Given the description of an element on the screen output the (x, y) to click on. 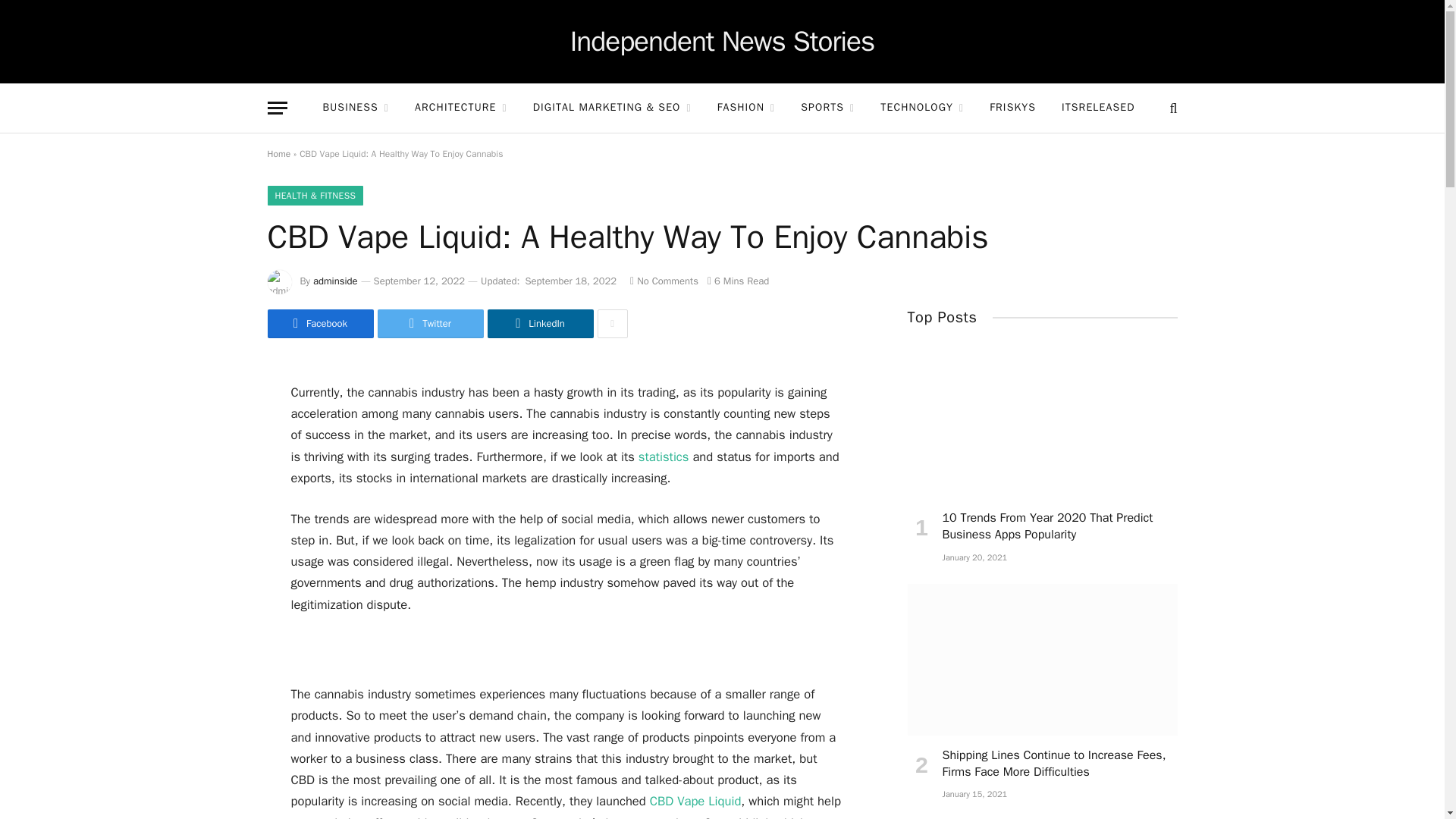
Independent News Stories (722, 41)
Independent News Stories (722, 41)
Share on Facebook (319, 323)
Posts by adminside (335, 280)
Share on LinkedIn (539, 323)
